Given the description of an element on the screen output the (x, y) to click on. 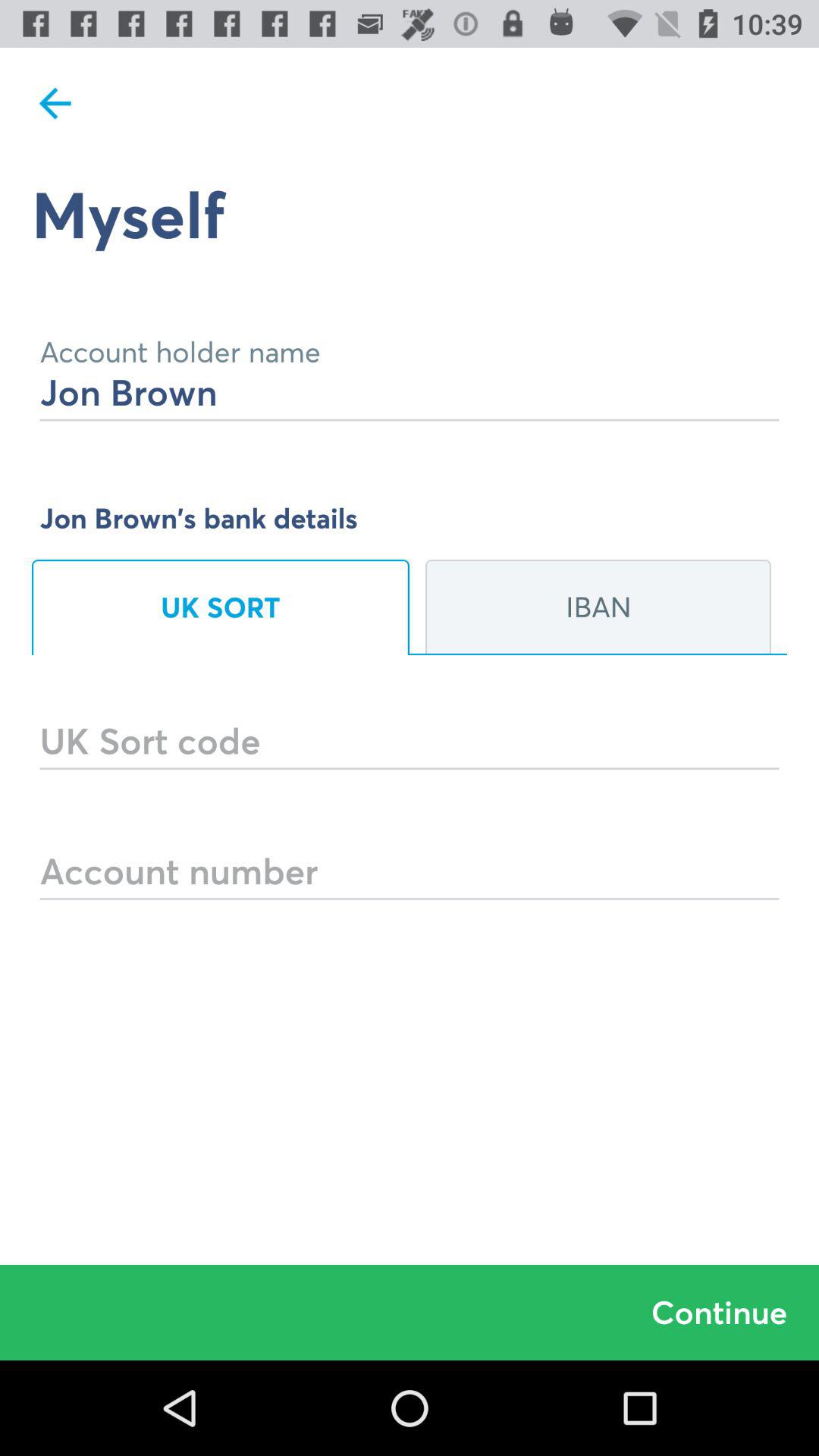
open the iban item (598, 607)
